Given the description of an element on the screen output the (x, y) to click on. 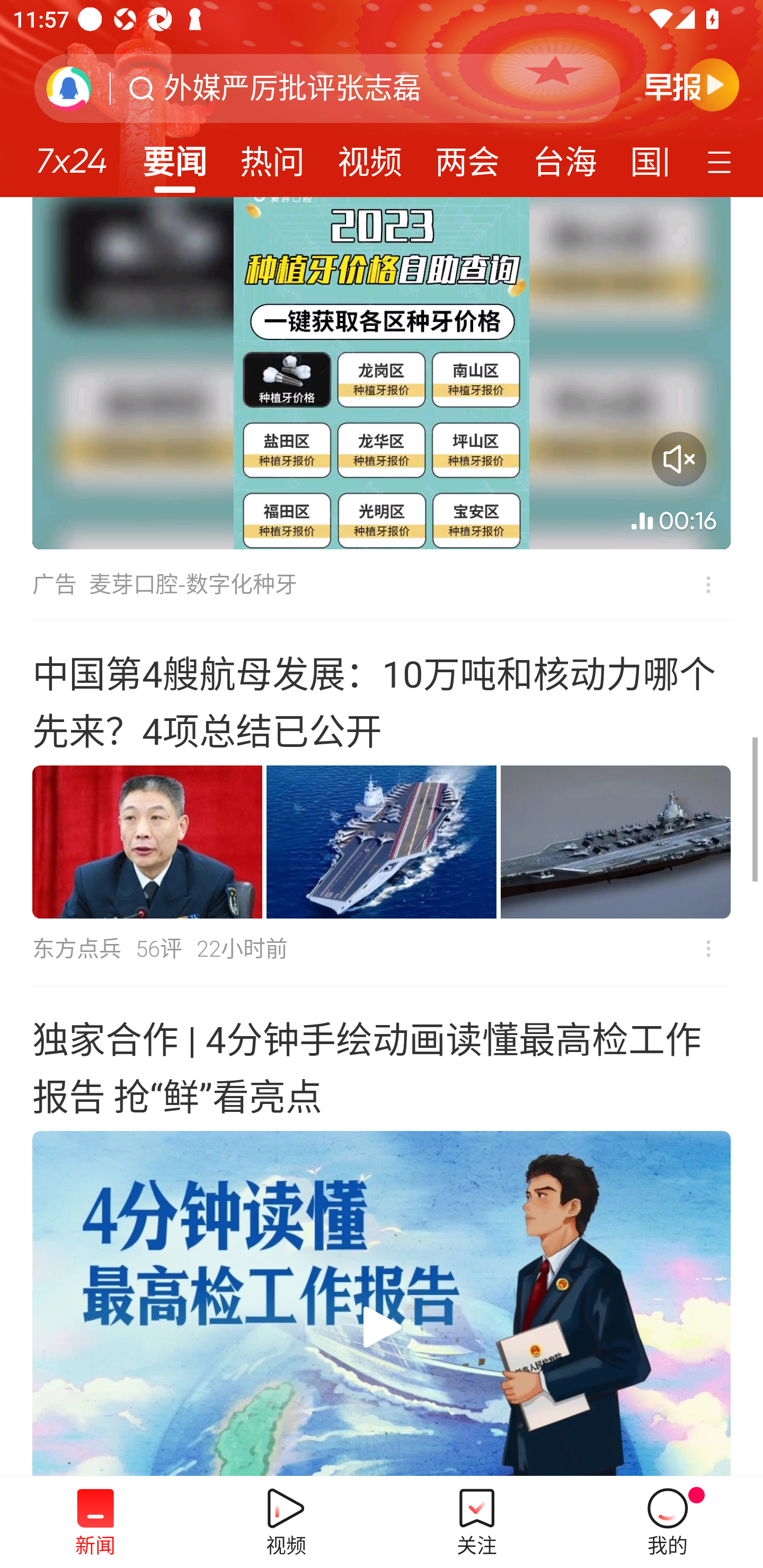
早晚报 (691, 84)
刷新 (68, 88)
外媒严厉批评张志磊 (292, 88)
7x24 (70, 154)
要闻 (174, 155)
热问 (272, 155)
视频 (369, 155)
两会 (466, 155)
台海 (564, 155)
 定制频道 (721, 160)
00:16 音量开关 (381, 372)
音量开关 (678, 458)
 不感兴趣 (694, 584)
广告 (54, 584)
麦芽口腔-数字化种牙 (193, 584)
 不感兴趣 (707, 948)
独家合作 | 4分钟手绘动画读懂最高检工作报告 抢“鲜”看亮点 (381, 1231)
